Given the description of an element on the screen output the (x, y) to click on. 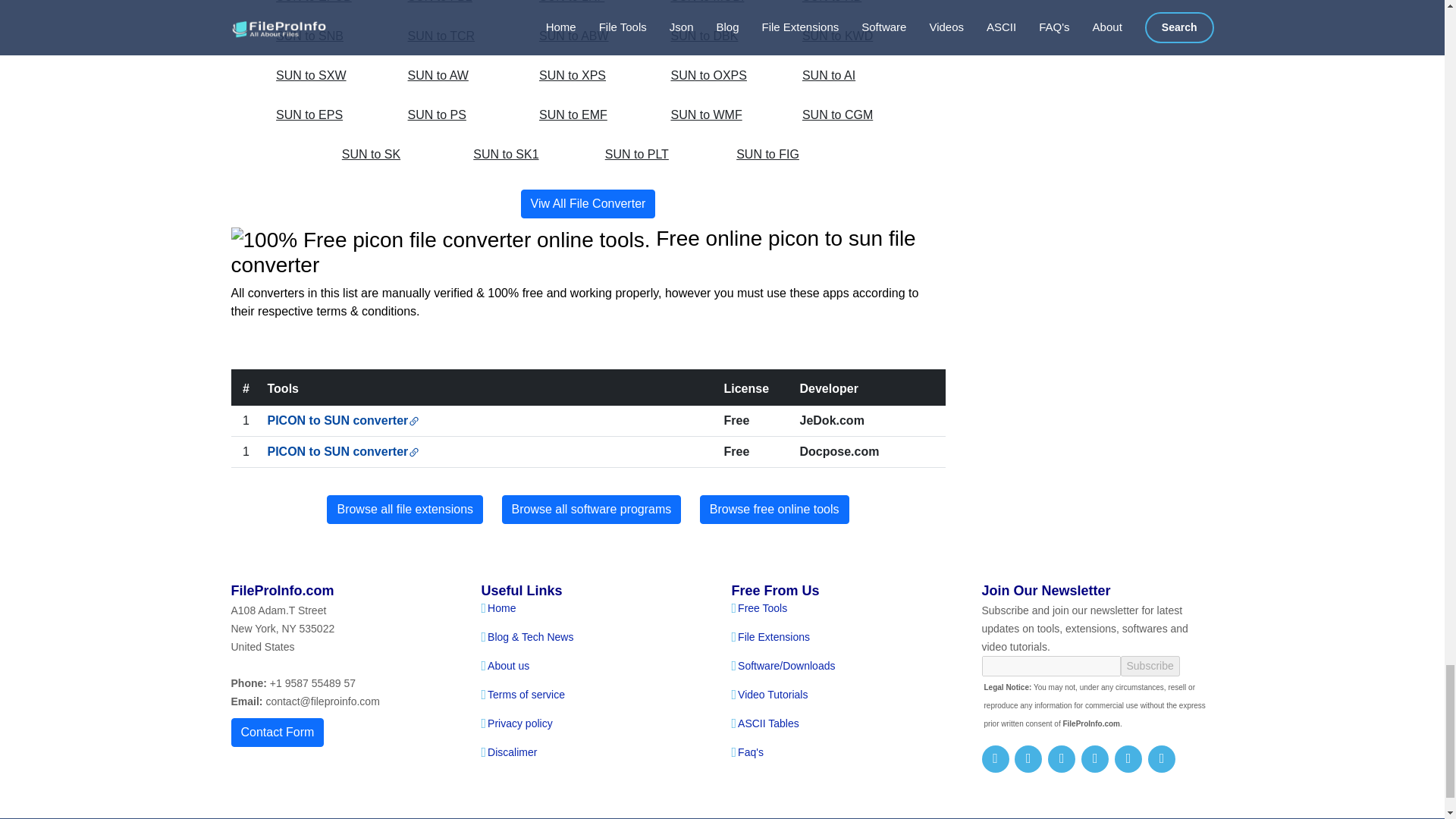
Subscribe (1150, 666)
